Given the description of an element on the screen output the (x, y) to click on. 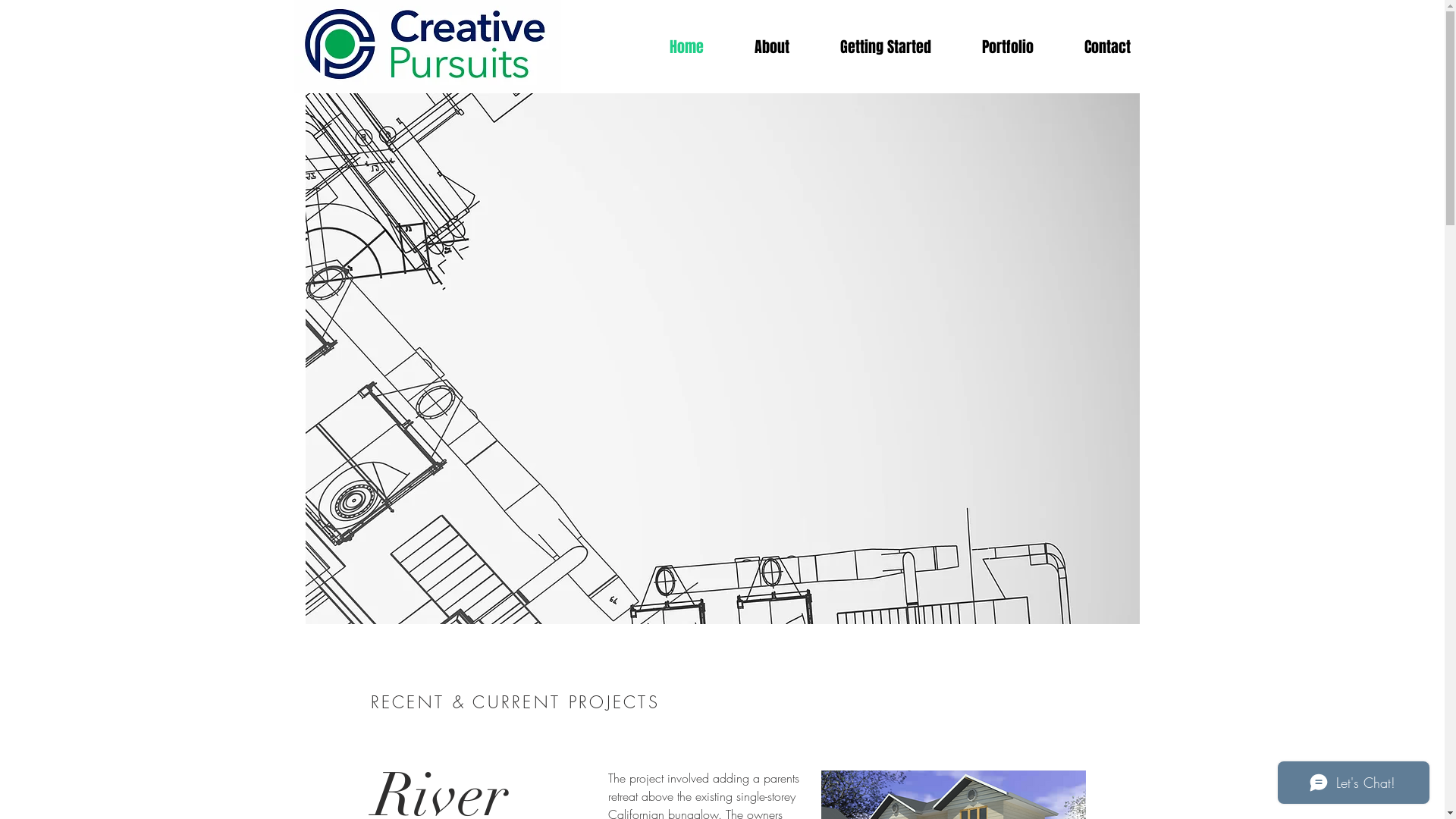
About Element type: text (772, 46)
Portfolio Element type: text (1008, 46)
Contact Element type: text (1106, 46)
Getting Started Element type: text (885, 46)
Home Element type: text (685, 46)
